Given the description of an element on the screen output the (x, y) to click on. 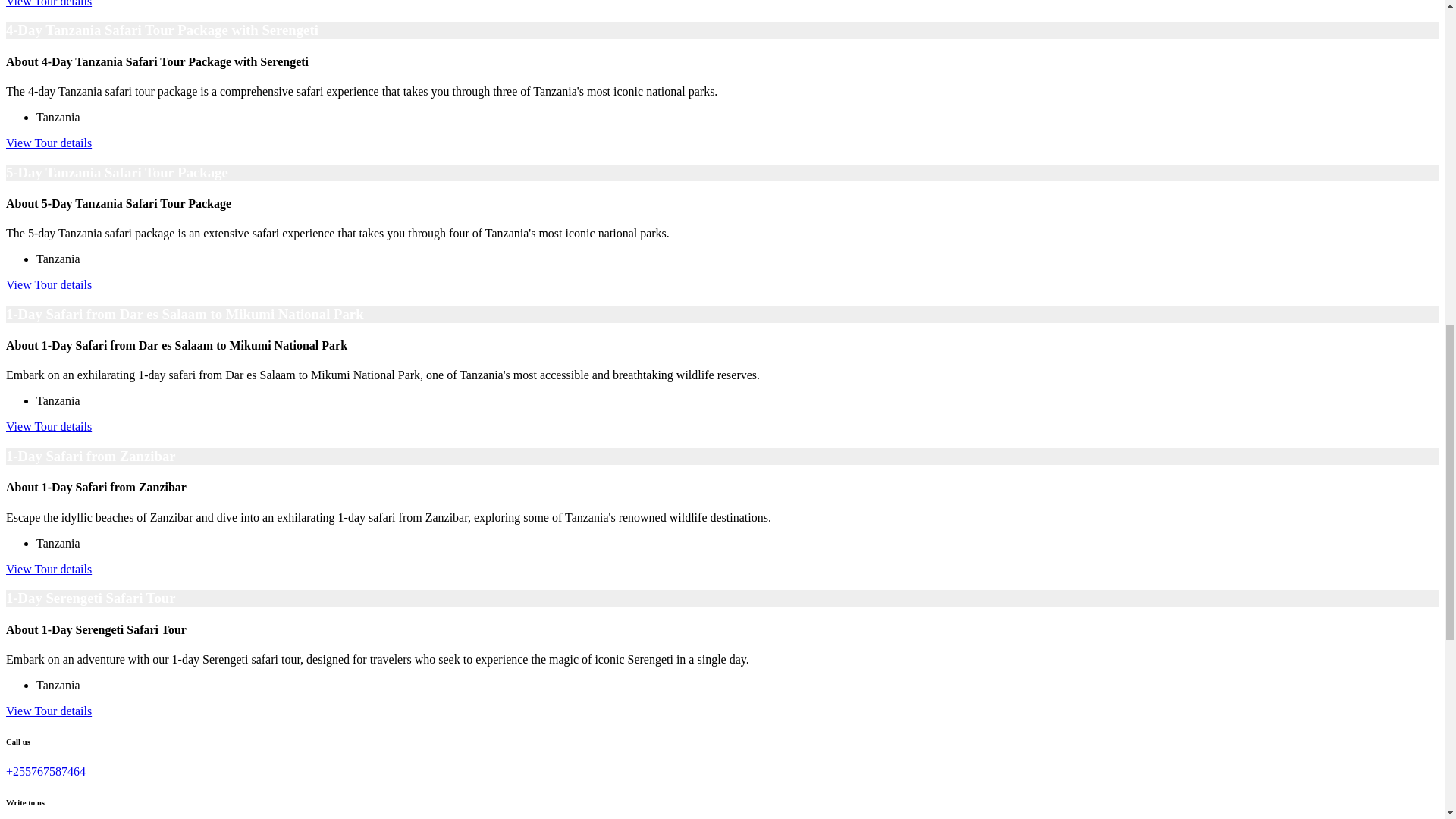
View Tour details (48, 568)
View Tour details (48, 426)
View Tour details (48, 710)
View Tour details (48, 3)
View Tour details (48, 284)
View Tour details (48, 142)
